Given the description of an element on the screen output the (x, y) to click on. 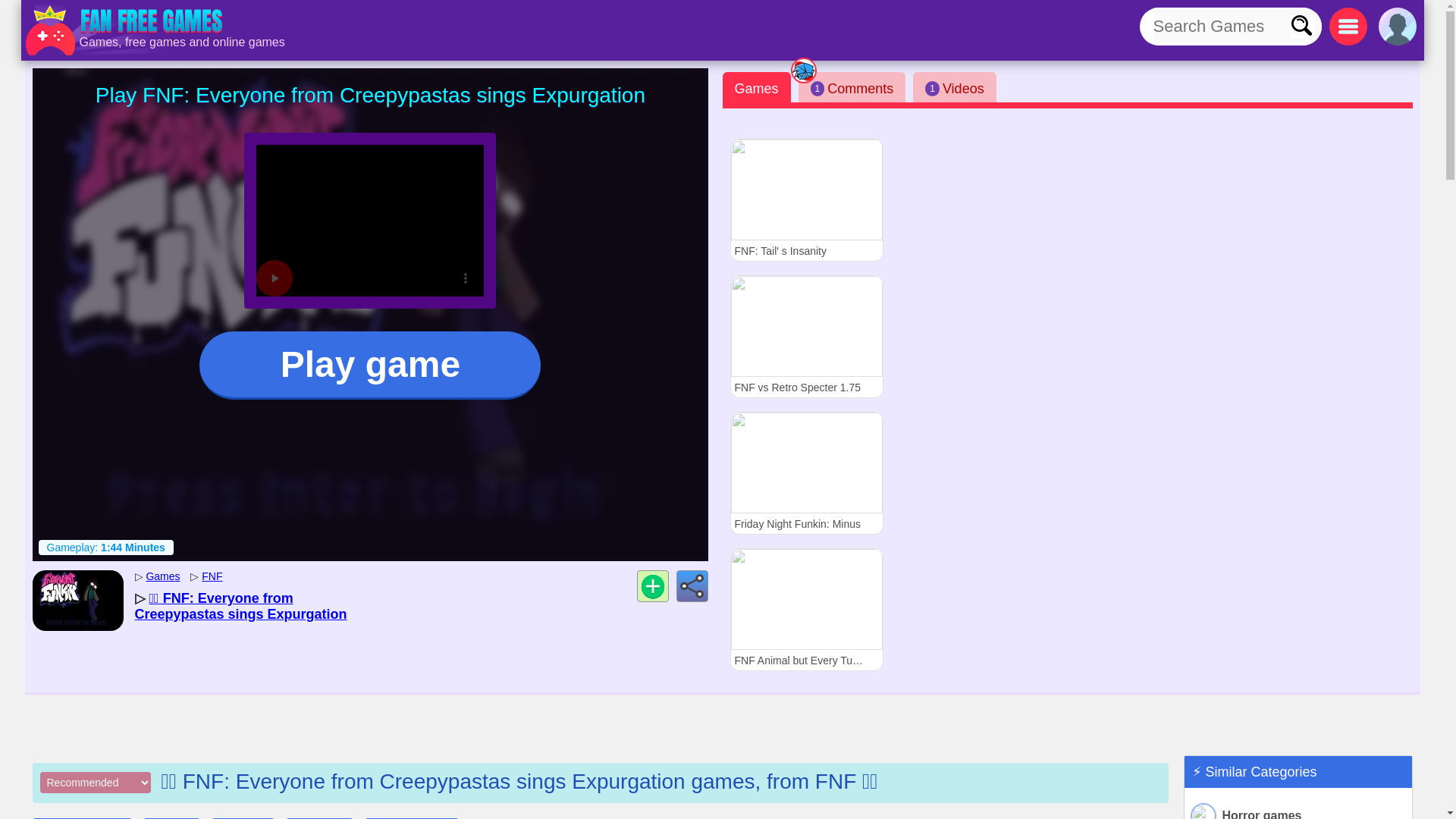
Free Horror games, Horror, fear and panic (1298, 809)
Free FNF games (212, 576)
Games (756, 87)
Songs (319, 818)
Games (162, 576)
Games (162, 576)
Games, www.fanfreegames.com (126, 30)
FNF: Tail' s Insanity (805, 199)
FNF Animal but Every Turn a Different Cover is Used (805, 608)
